Given the description of an element on the screen output the (x, y) to click on. 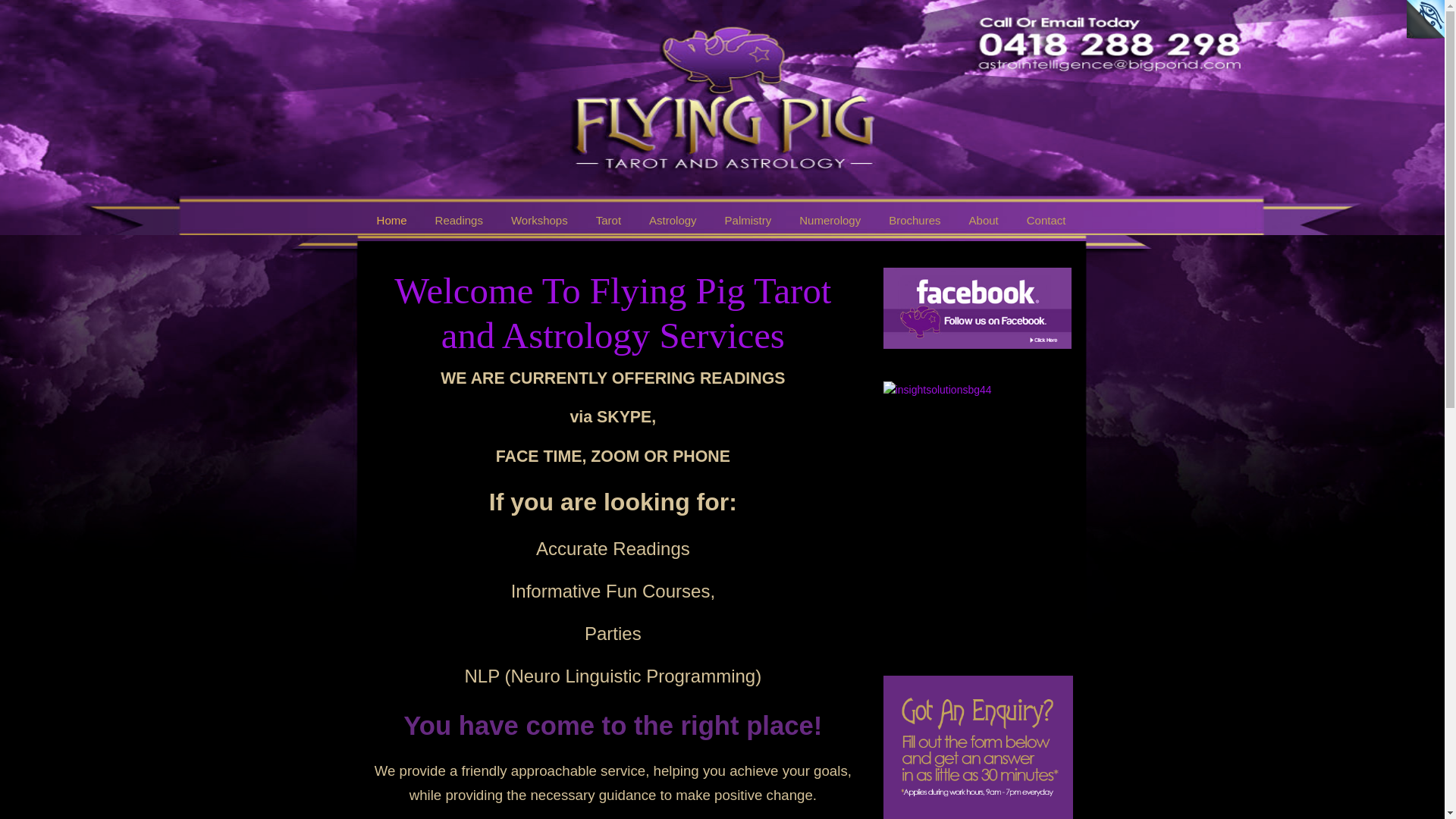
Astrology Element type: text (672, 220)
Workshops Element type: text (539, 220)
Tarot Element type: text (608, 220)
Palmistry Element type: text (748, 220)
Readings Element type: text (459, 220)
About Element type: text (983, 220)
Contact Element type: text (1046, 220)
Numerology Element type: text (829, 220)
Flying Pig Tarot And Astrology Element type: text (429, 45)
Home Element type: text (391, 220)
Brochures Element type: text (914, 220)
